Given the description of an element on the screen output the (x, y) to click on. 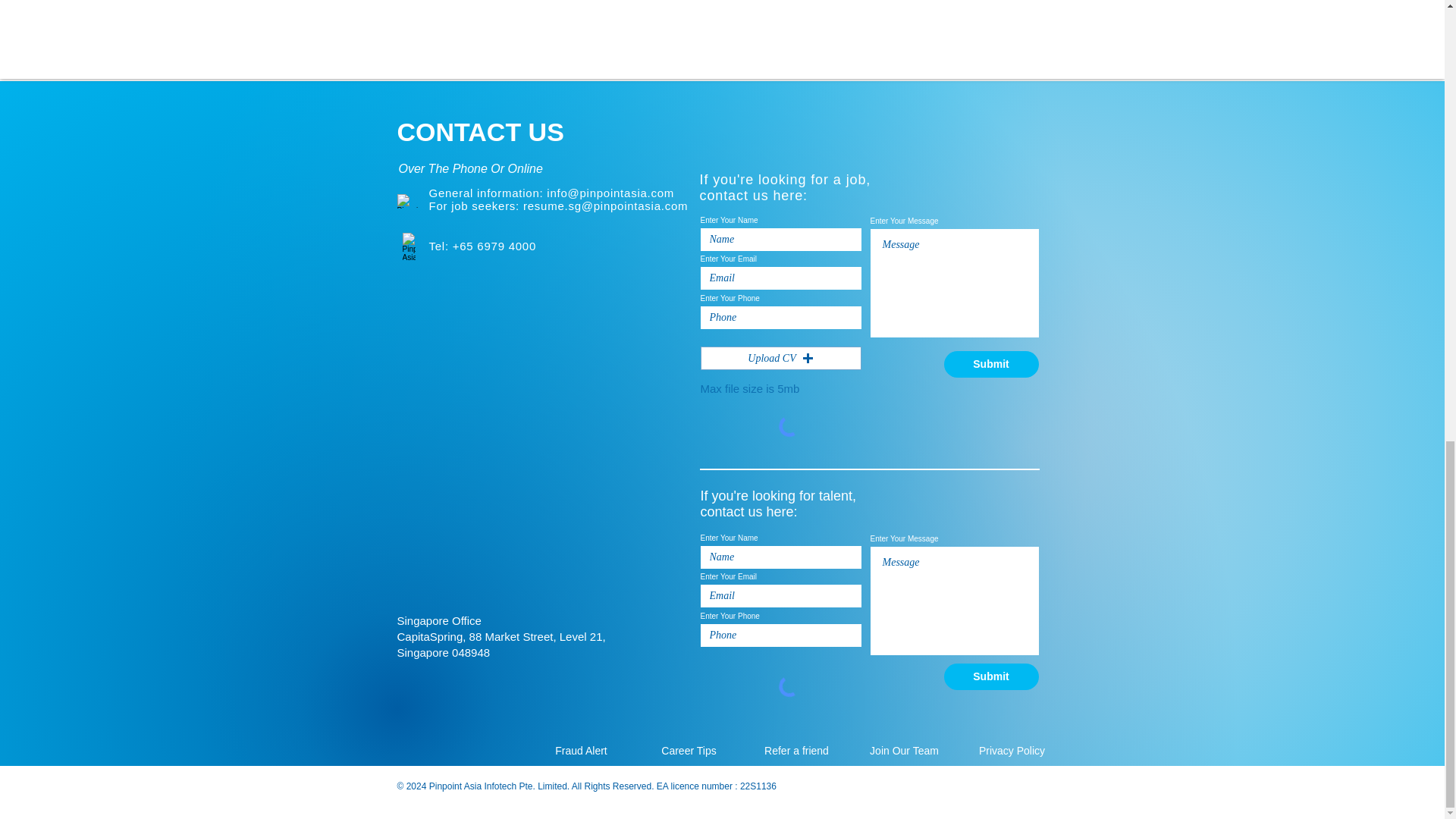
Fraud Alert (580, 750)
Privacy Policy (1011, 750)
Submit (990, 364)
Refer a friend (796, 750)
Career Tips (688, 750)
Join Our Team (904, 750)
Apply Now (418, 40)
mail.png (408, 201)
Max file size is 5mb (749, 388)
Submit (990, 676)
